Given the description of an element on the screen output the (x, y) to click on. 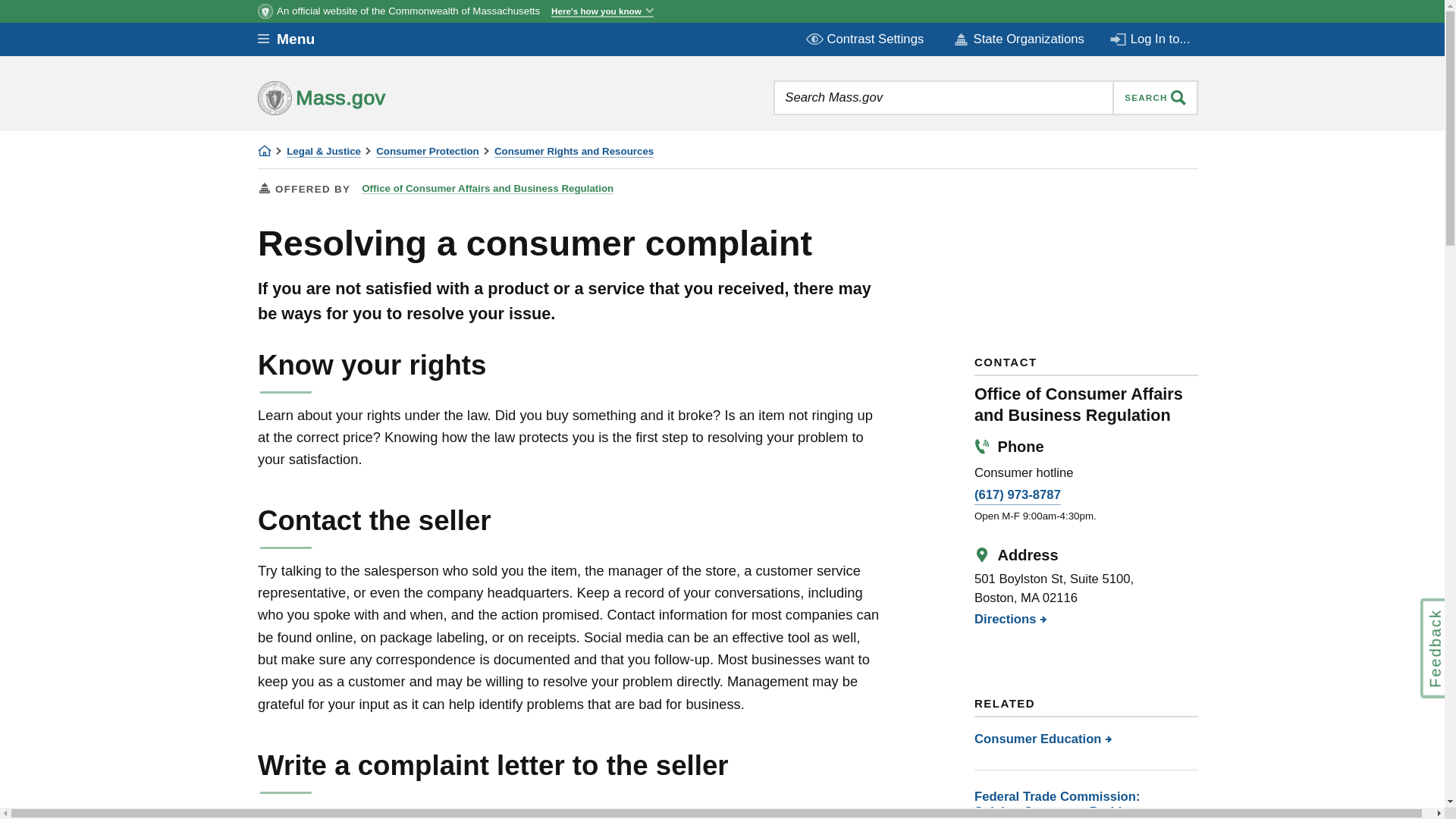
Menu (297, 39)
State Organizations (1018, 39)
Log In to... (1151, 38)
Mass.gov home page (369, 97)
Contrast Settings (866, 38)
